Given the description of an element on the screen output the (x, y) to click on. 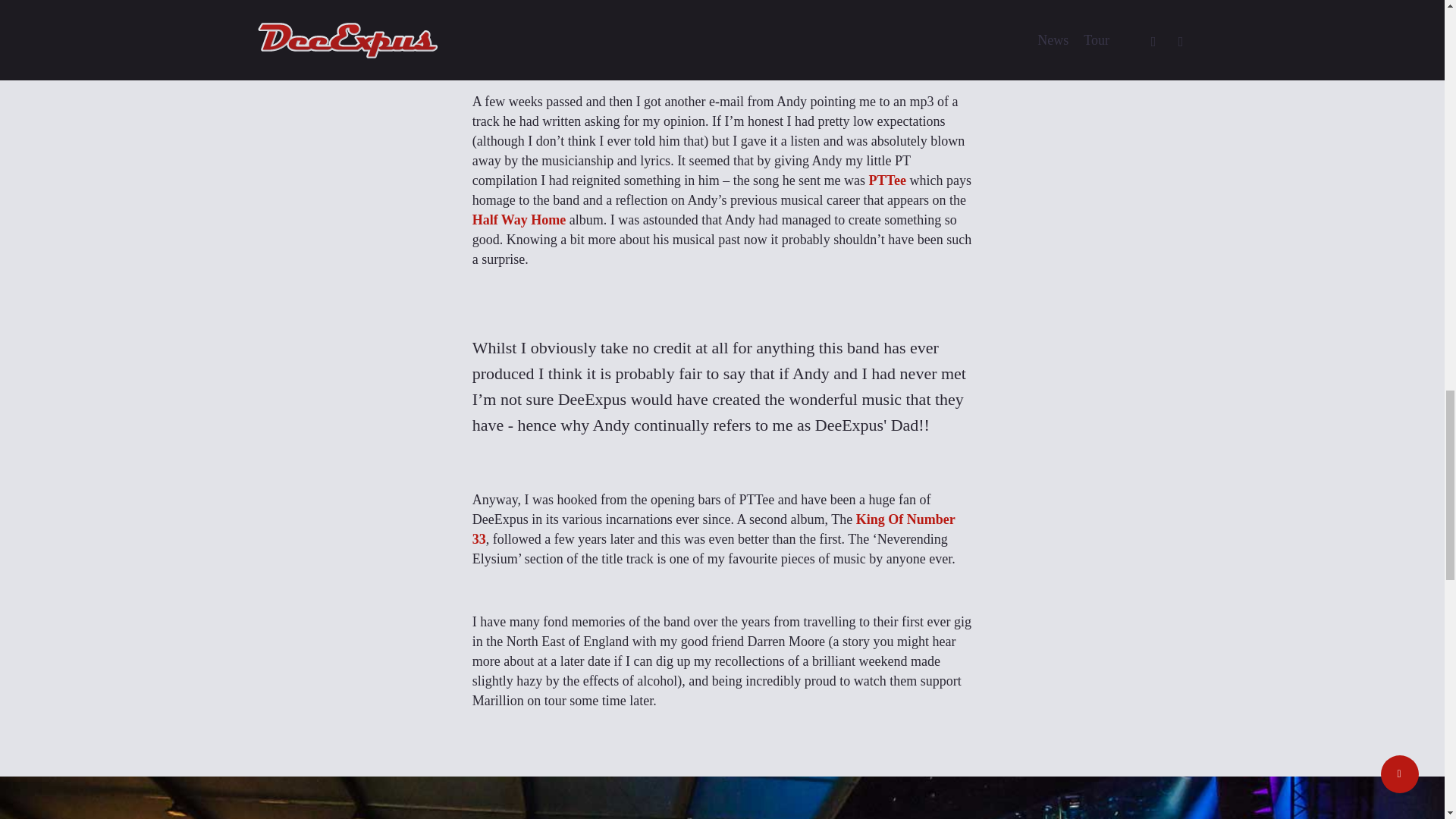
King Of Number 33 (713, 529)
Half Way Home (518, 219)
PTTee (887, 180)
